Given the description of an element on the screen output the (x, y) to click on. 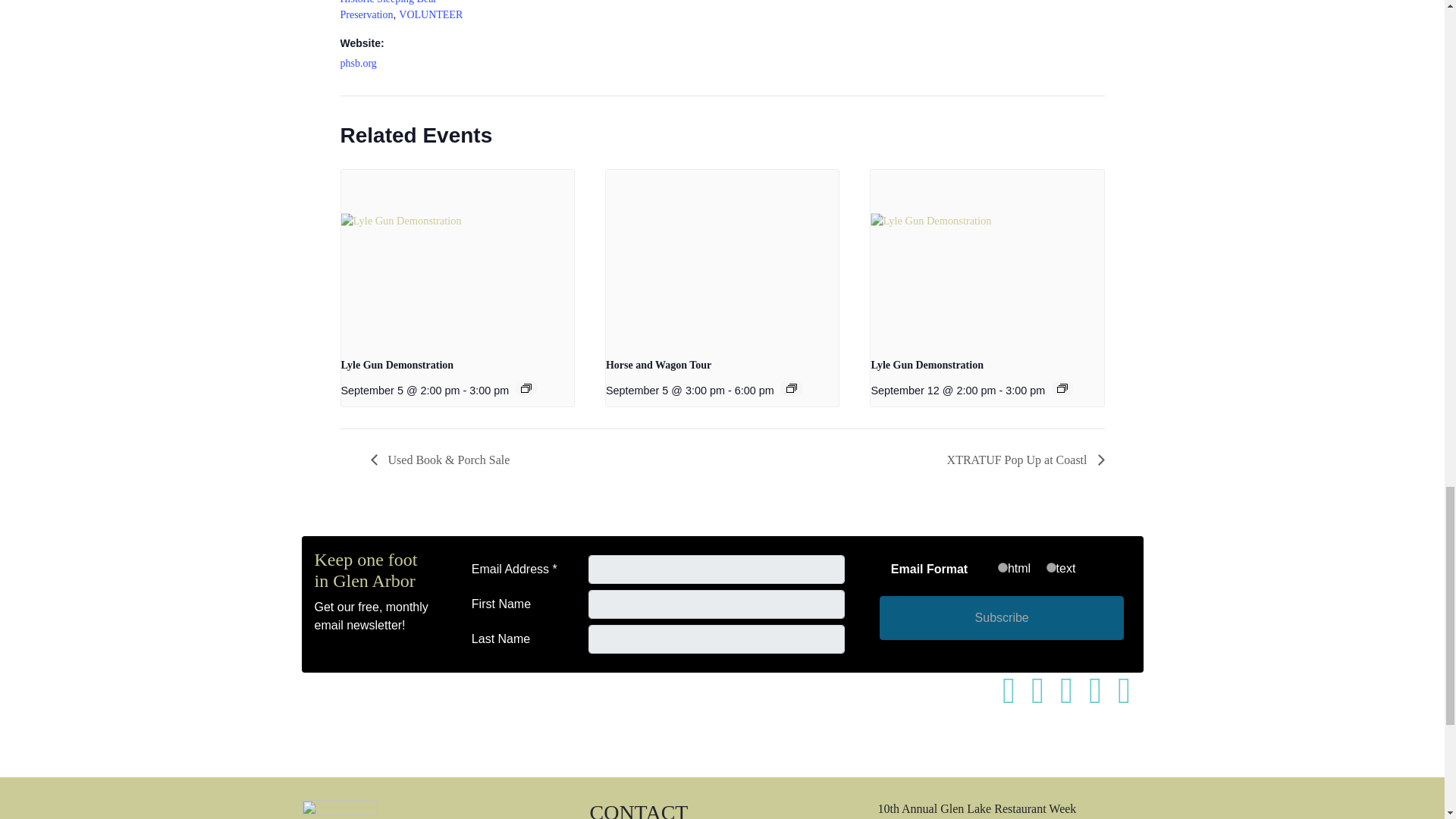
Subscribe (1001, 617)
text (1051, 567)
html (1002, 567)
